Given the description of an element on the screen output the (x, y) to click on. 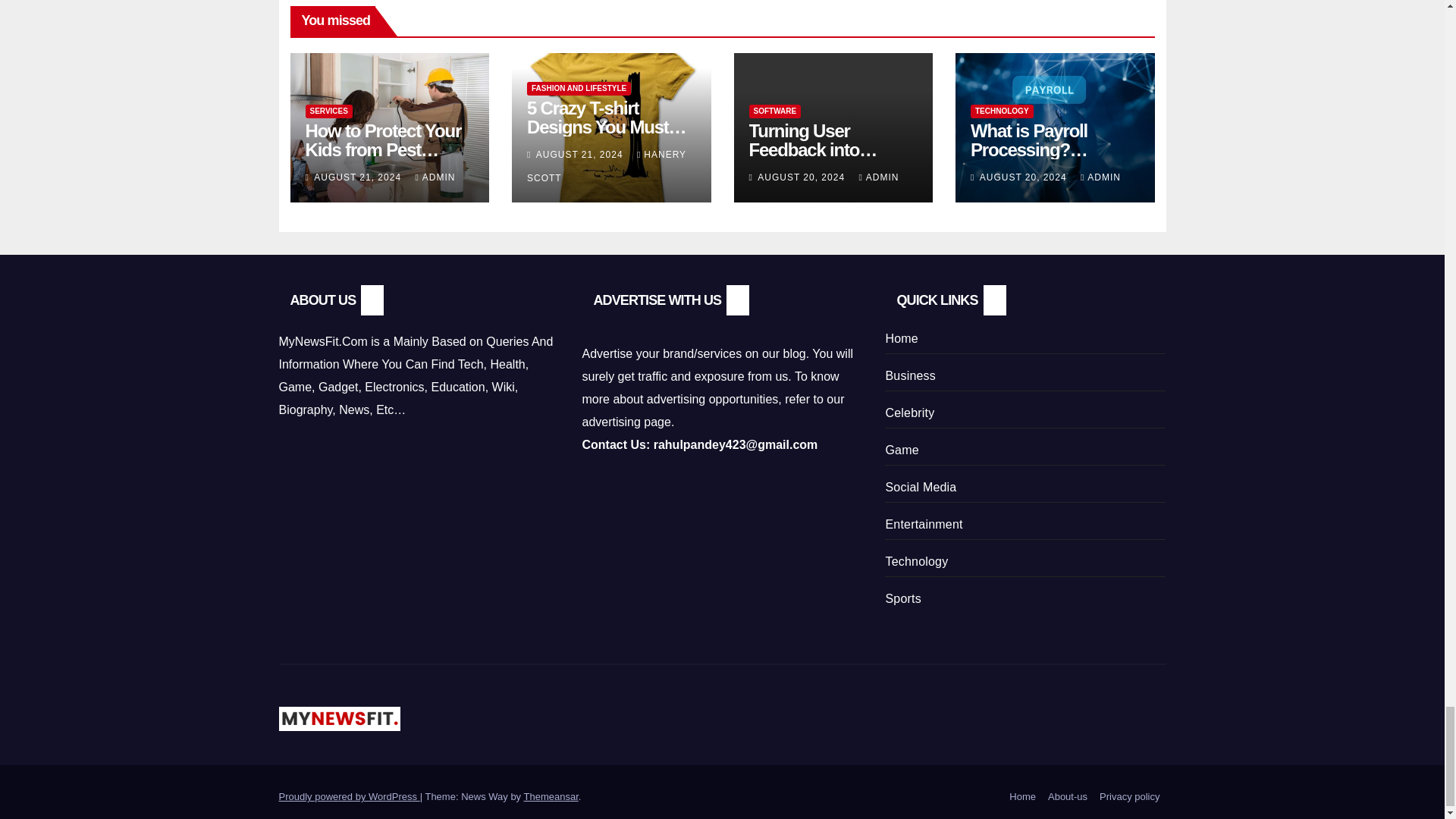
Permalink to: 5 Crazy T-shirt Designs You Must Have (607, 126)
